Given the description of an element on the screen output the (x, y) to click on. 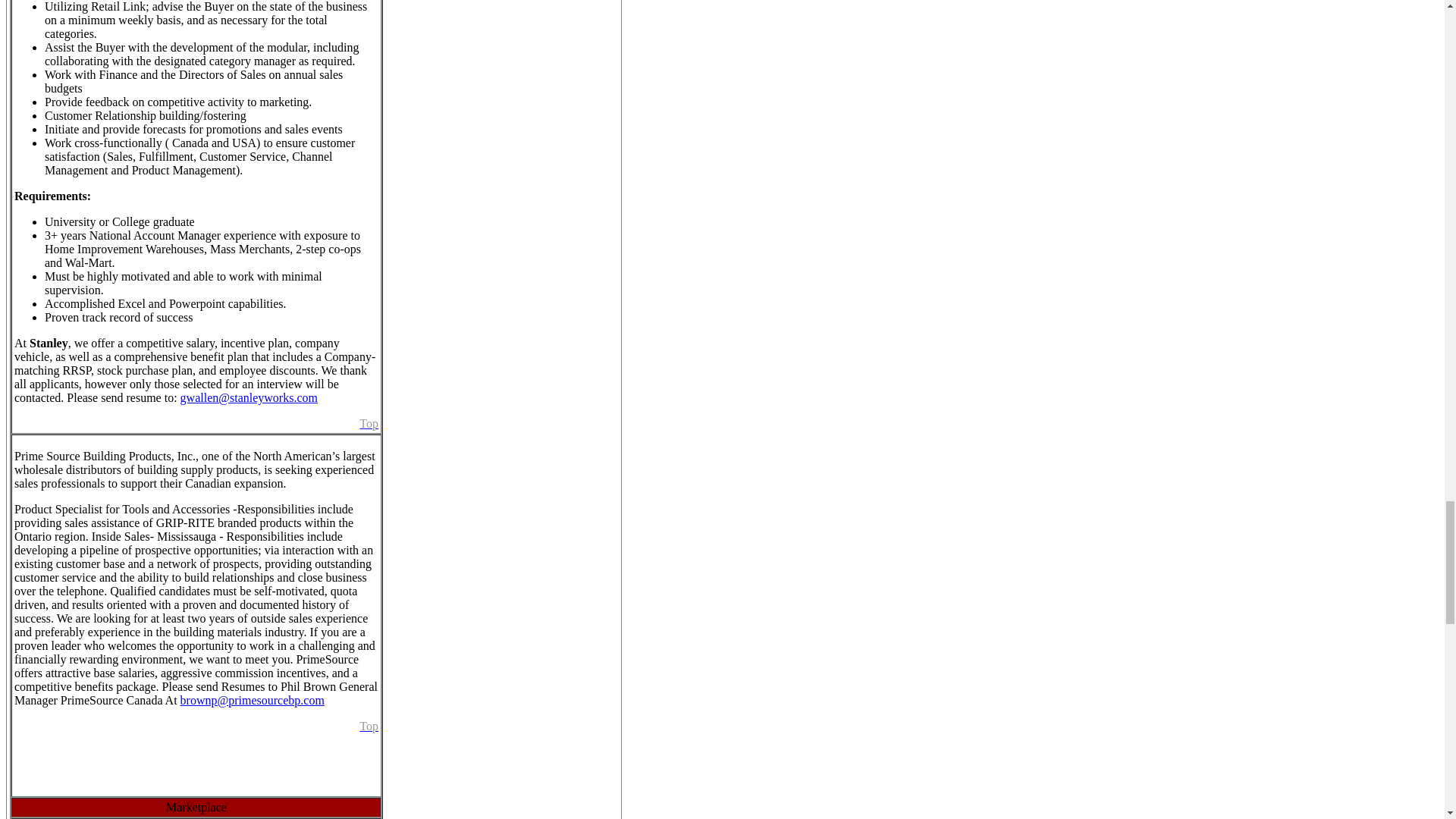
Top (368, 725)
Top (368, 422)
